Given the description of an element on the screen output the (x, y) to click on. 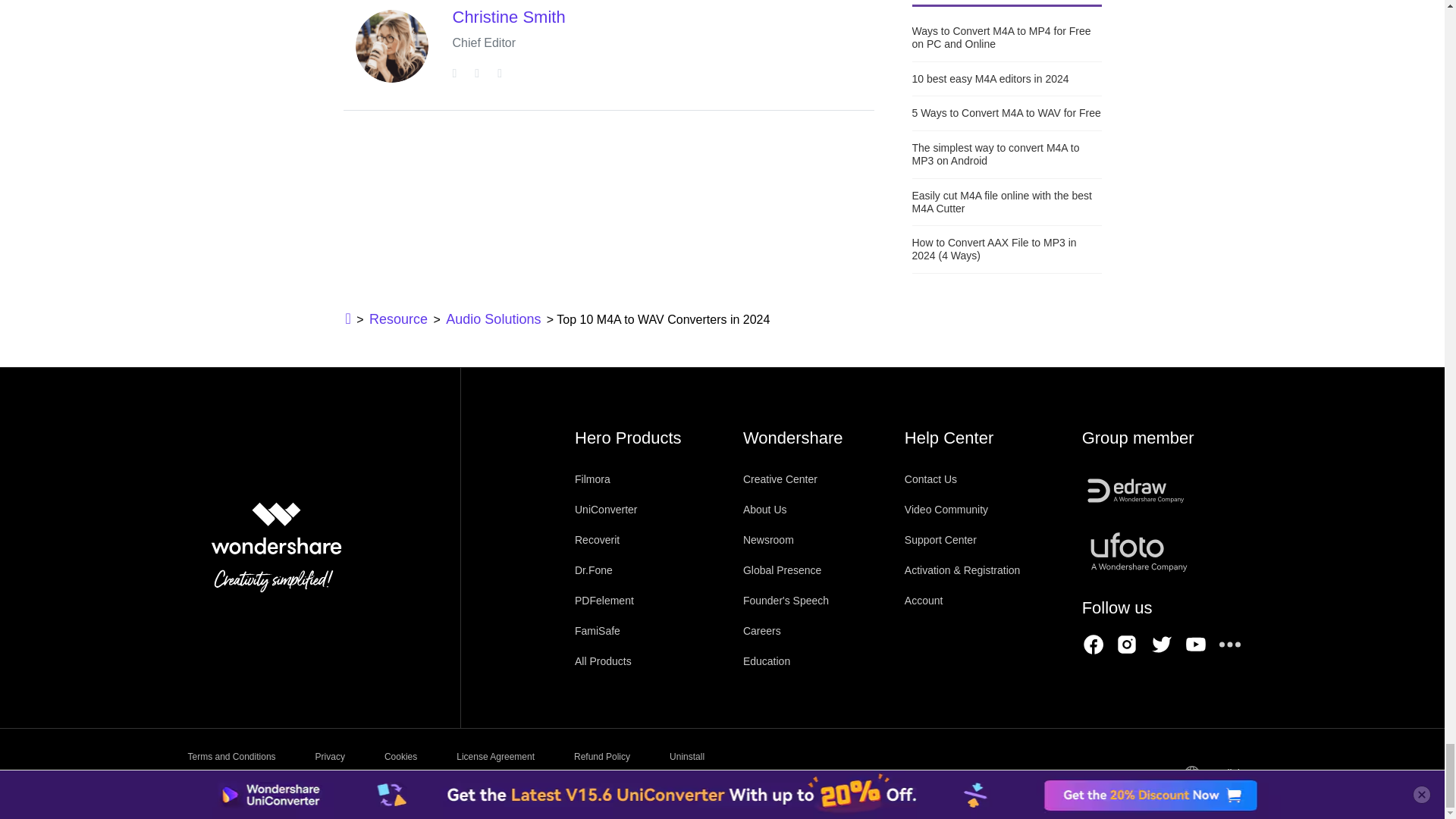
Easily cut M4A file online with the best M4A Cutter (1005, 201)
10 best easy M4A editors in 2024 (1005, 79)
5 Ways to Convert M4A to WAV for Free (1005, 113)
Ways to Convert M4A to MP4 for Free on PC and Online (1005, 37)
The simplest way to convert M4A to MP3 on Android (1005, 154)
